Given the description of an element on the screen output the (x, y) to click on. 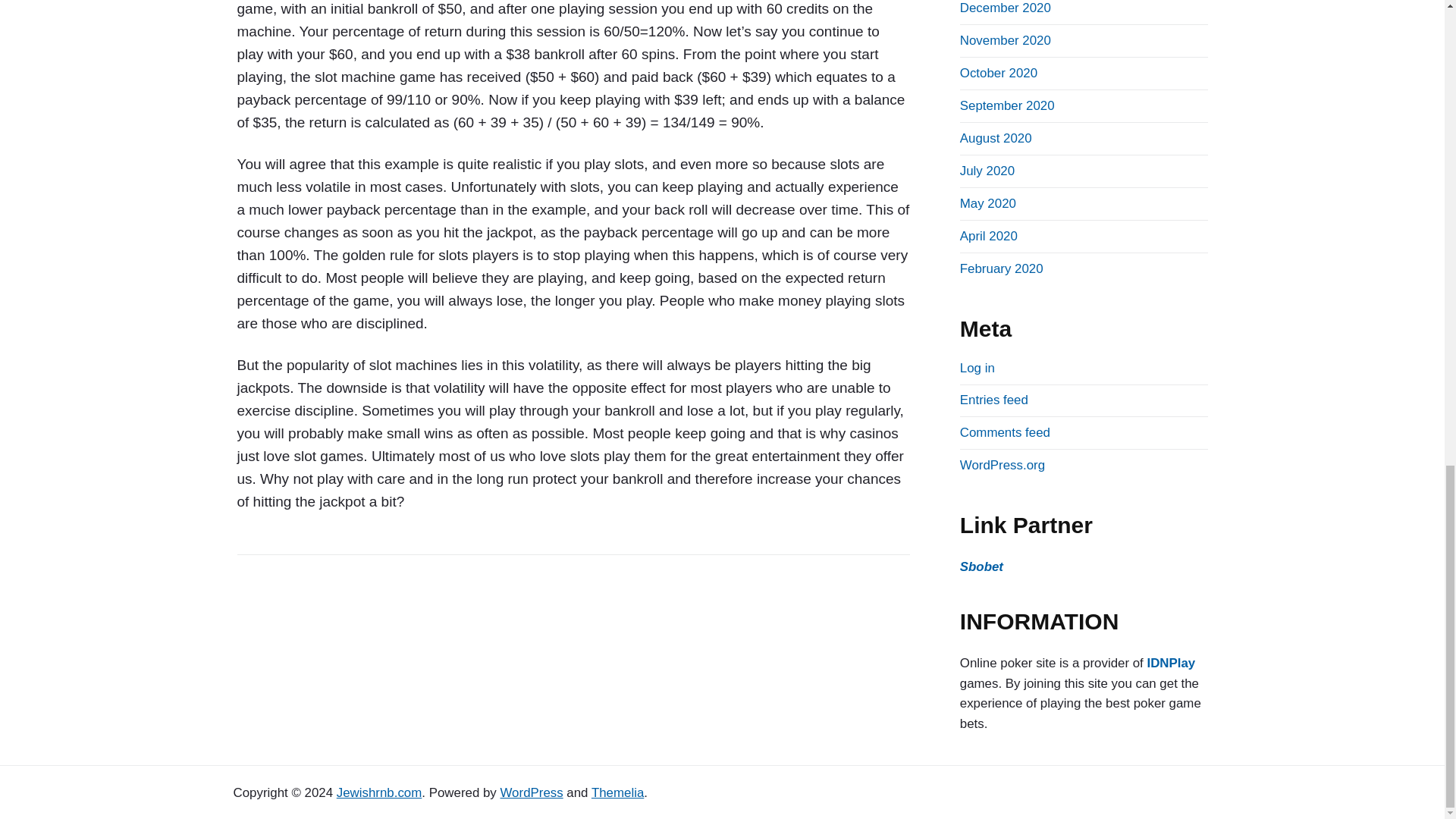
December 2020 (1005, 7)
September 2020 (1006, 105)
IDNPlay (1171, 663)
October 2020 (997, 73)
August 2020 (995, 138)
Sbobet (981, 566)
July 2020 (986, 170)
November 2020 (1005, 40)
